Given the description of an element on the screen output the (x, y) to click on. 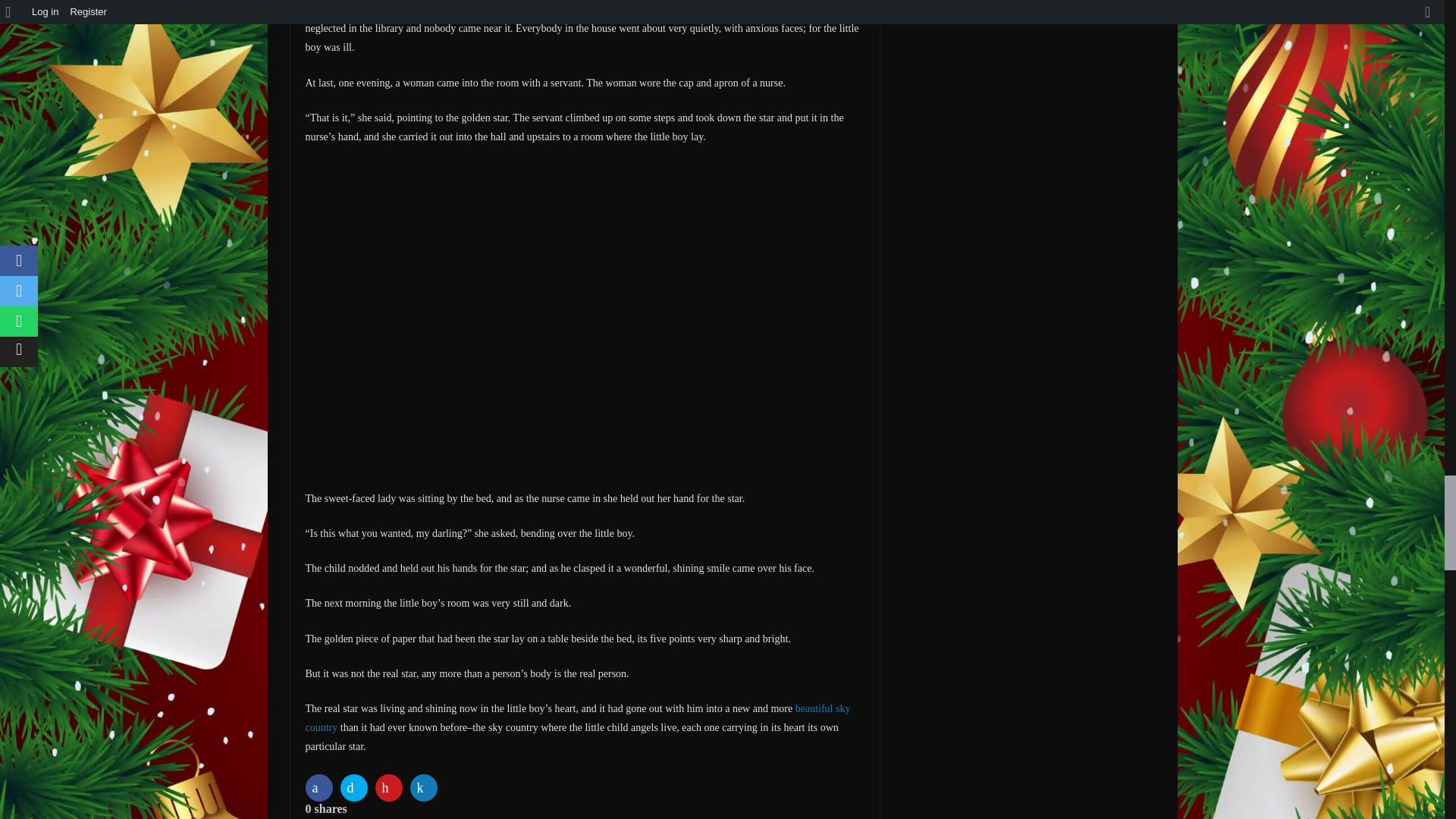
Share on Facebook (320, 786)
